Given the description of an element on the screen output the (x, y) to click on. 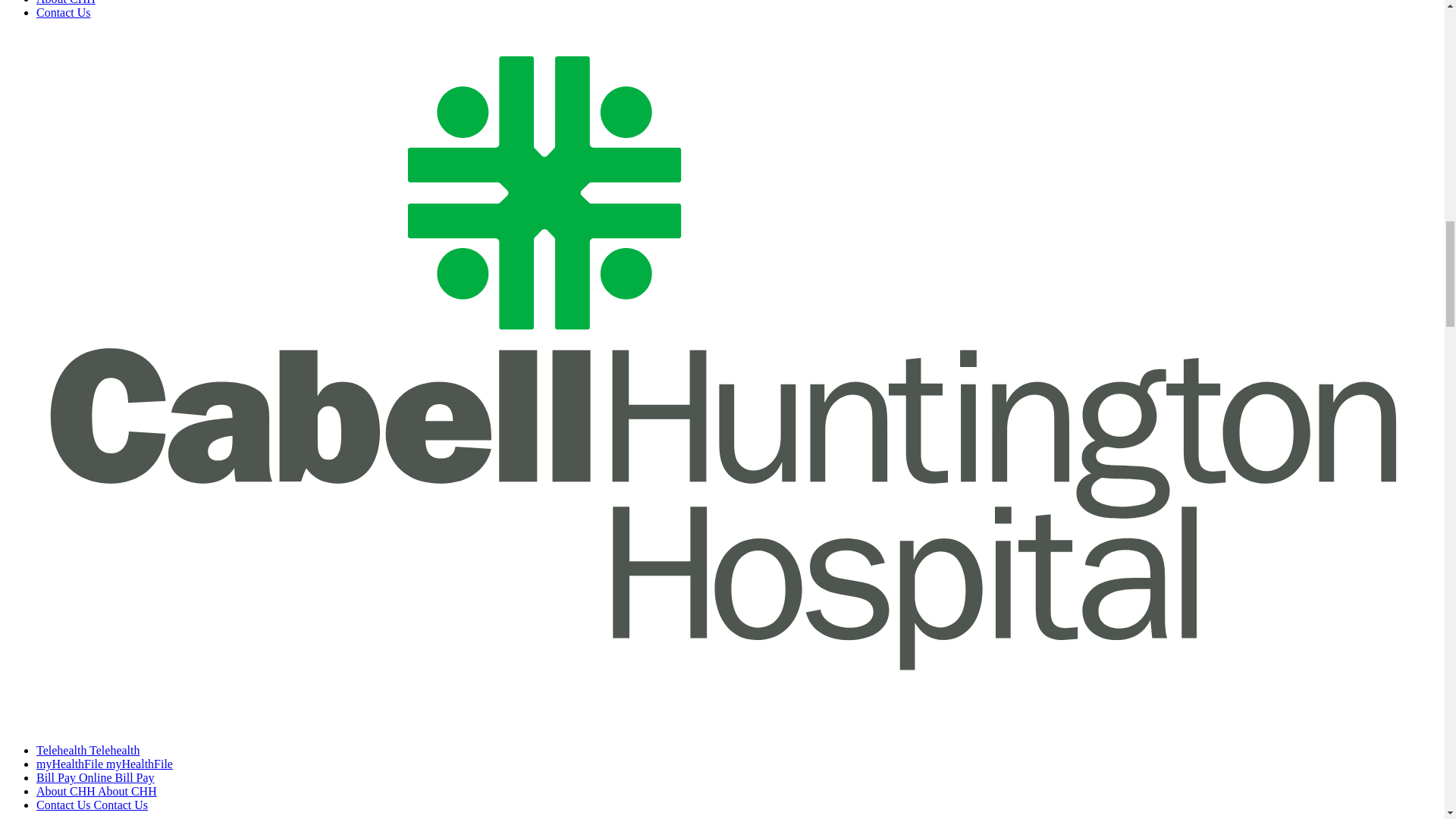
About CHH (96, 790)
About CHH (66, 2)
Telehealth (87, 749)
myHealthFile (104, 763)
Online Bill Pay (95, 777)
Contact Us (92, 804)
Contact Us (63, 11)
